Given the description of an element on the screen output the (x, y) to click on. 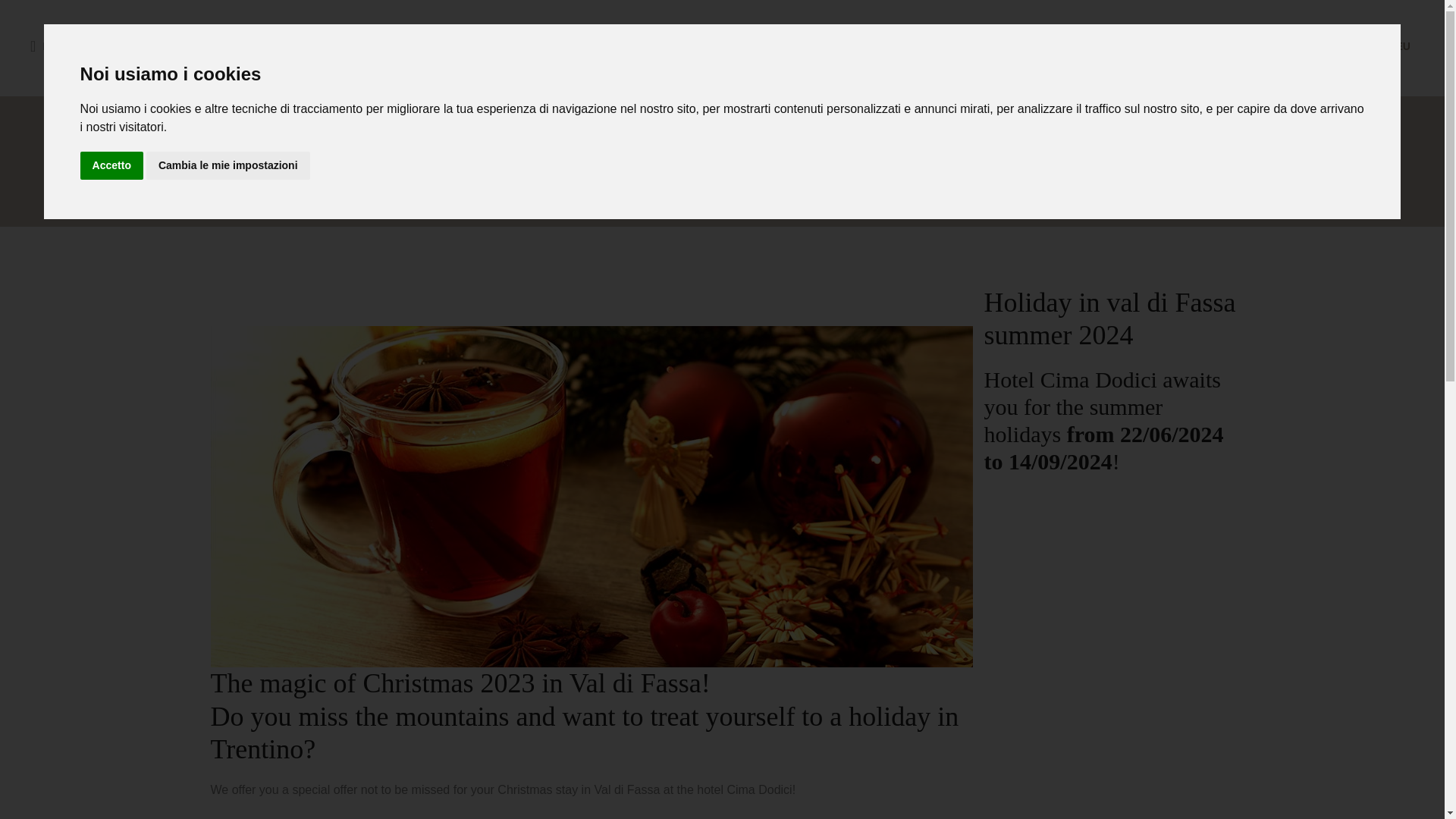
Cambia le mie impostazioni (228, 165)
Accetto (111, 165)
